Given the description of an element on the screen output the (x, y) to click on. 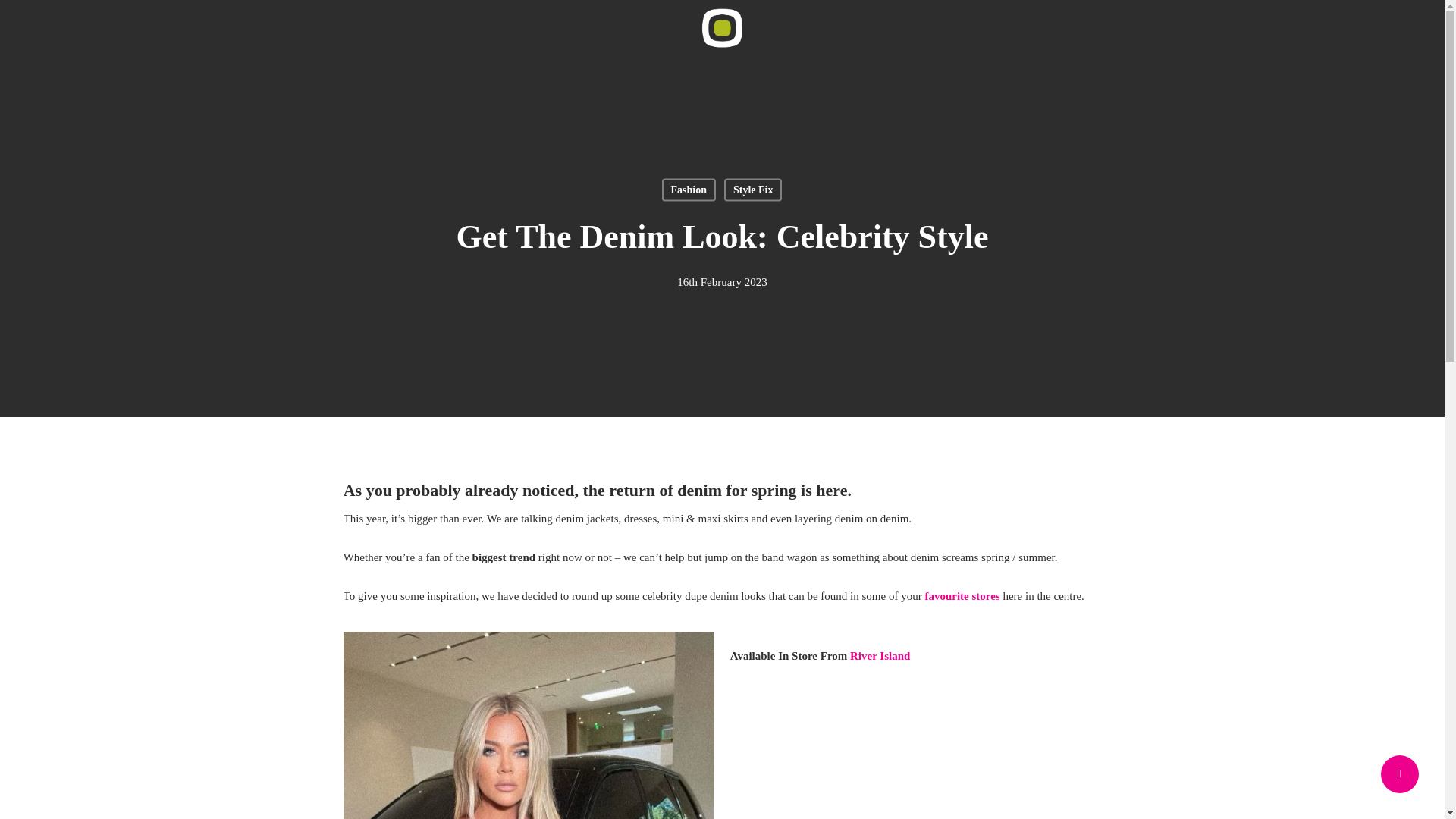
favourite stores (963, 595)
Fashion (689, 190)
Style Fix (753, 190)
